Given the description of an element on the screen output the (x, y) to click on. 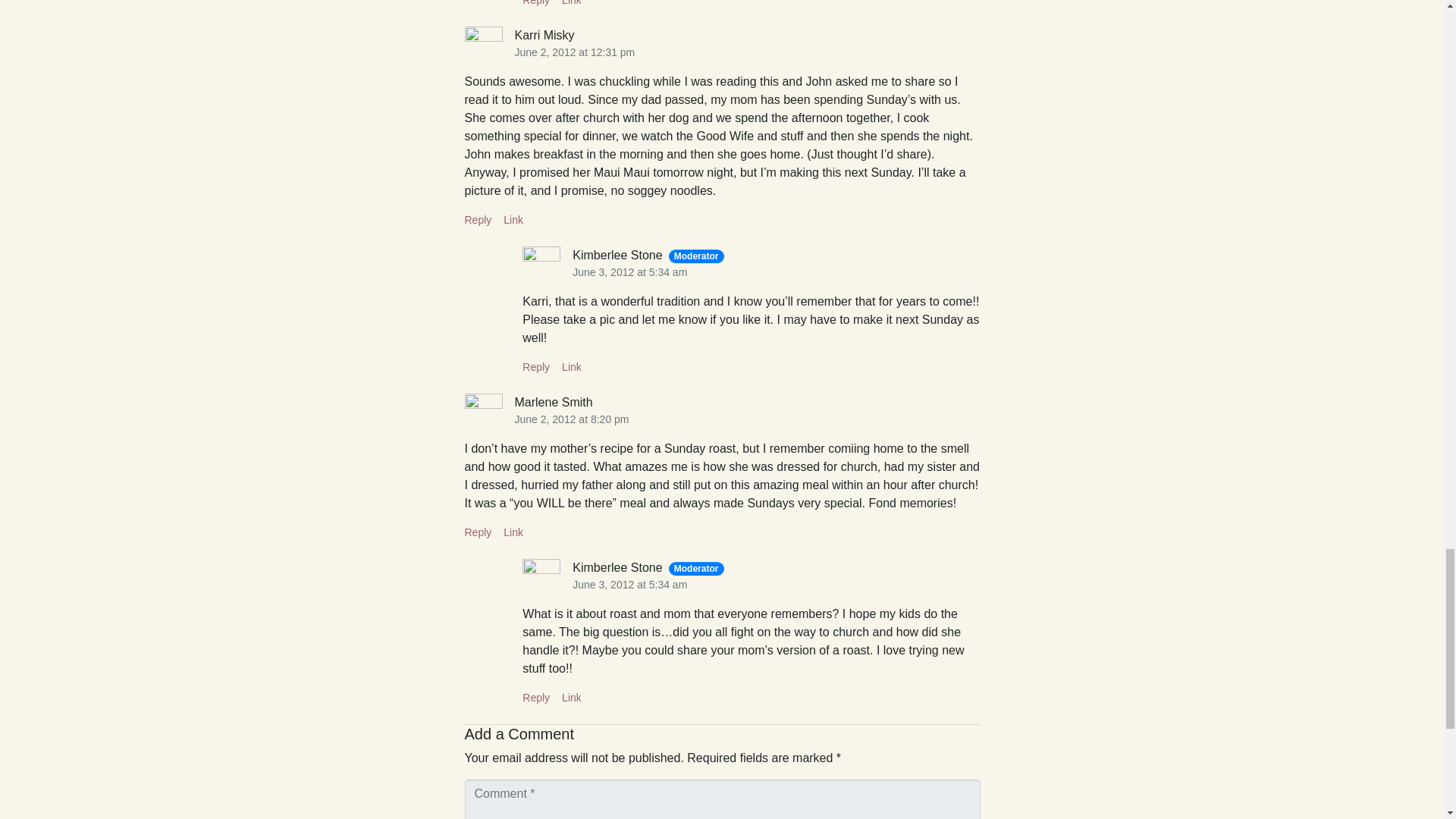
Reply (478, 532)
Link (512, 532)
Reply (478, 219)
Link (571, 697)
Link (571, 2)
Reply (536, 367)
Link (571, 367)
Reply (536, 2)
Link (512, 219)
Reply (536, 697)
